Given the description of an element on the screen output the (x, y) to click on. 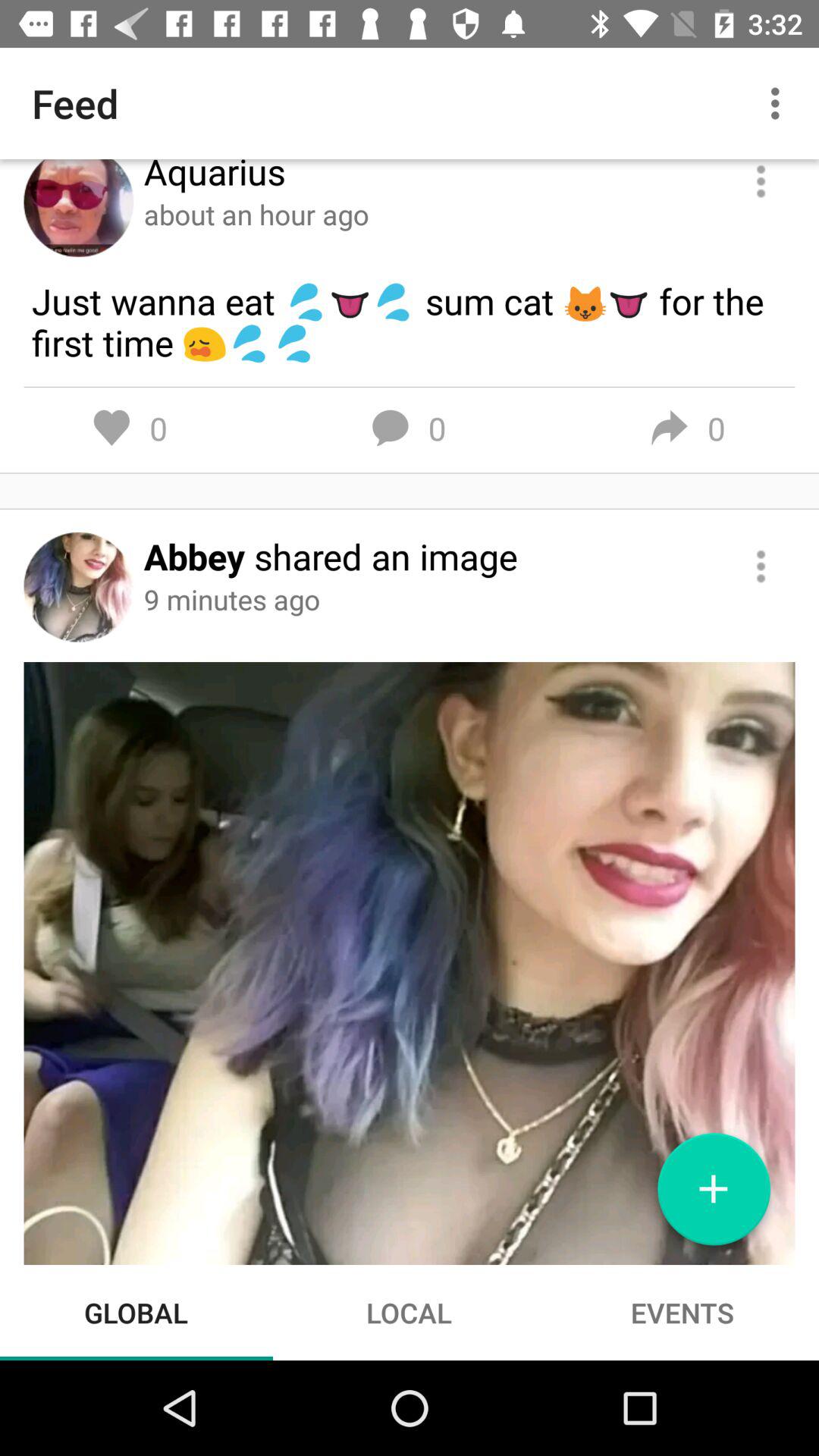
open the menu (760, 182)
